Given the description of an element on the screen output the (x, y) to click on. 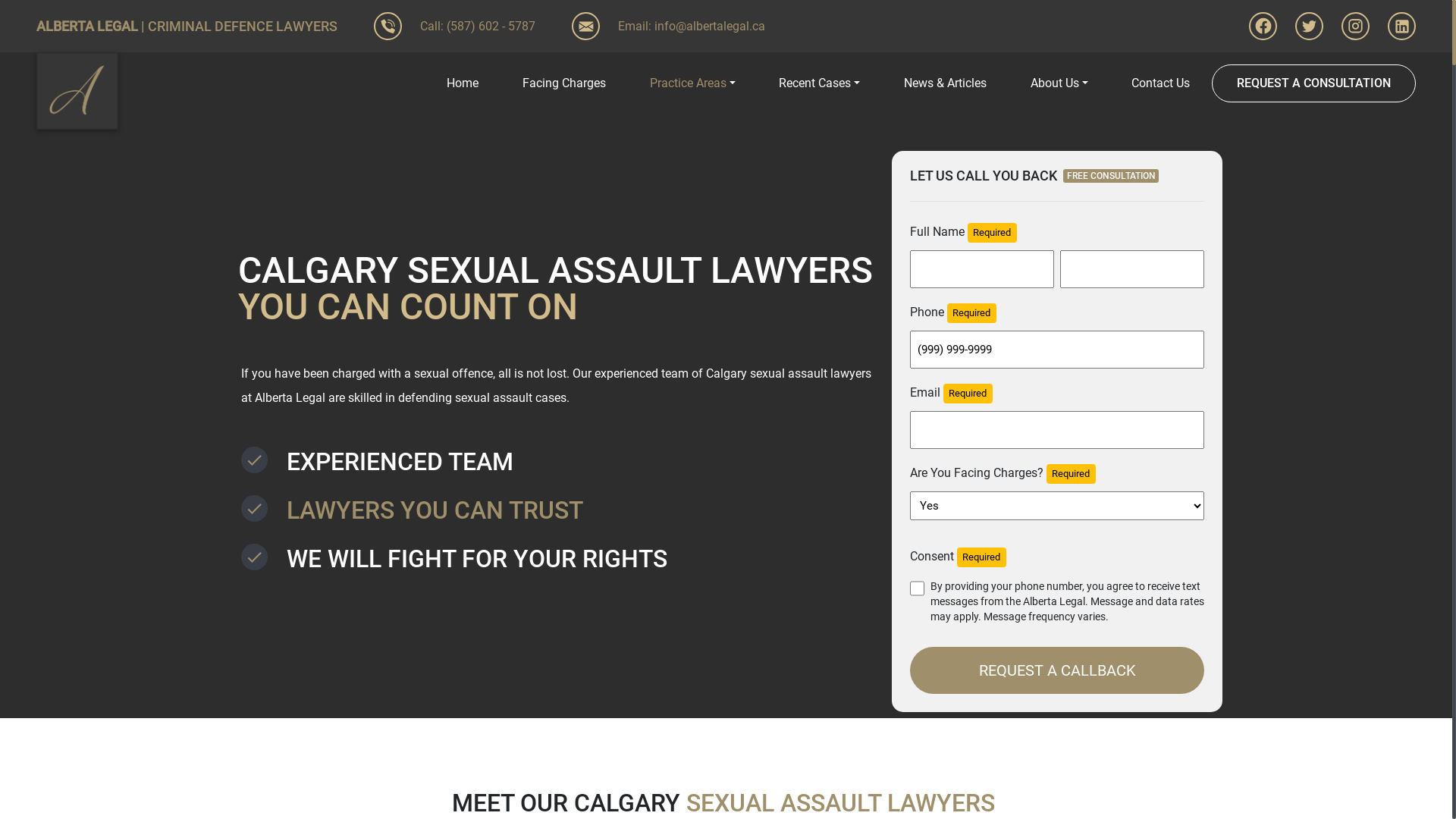
Home Element type: text (463, 83)
REQUEST A CONSULTATION Element type: text (1313, 83)
Facing Charges Element type: text (563, 83)
Call: (587) 602 - 5787 Element type: text (454, 26)
Email: info@albertalegal.ca Element type: text (668, 26)
Recent Cases Element type: text (818, 83)
About Us Element type: text (1059, 83)
Request A Callback Element type: text (1057, 669)
Contact Us Element type: text (1160, 83)
Practice Areas Element type: text (692, 83)
News & Articles Element type: text (944, 83)
